Given the description of an element on the screen output the (x, y) to click on. 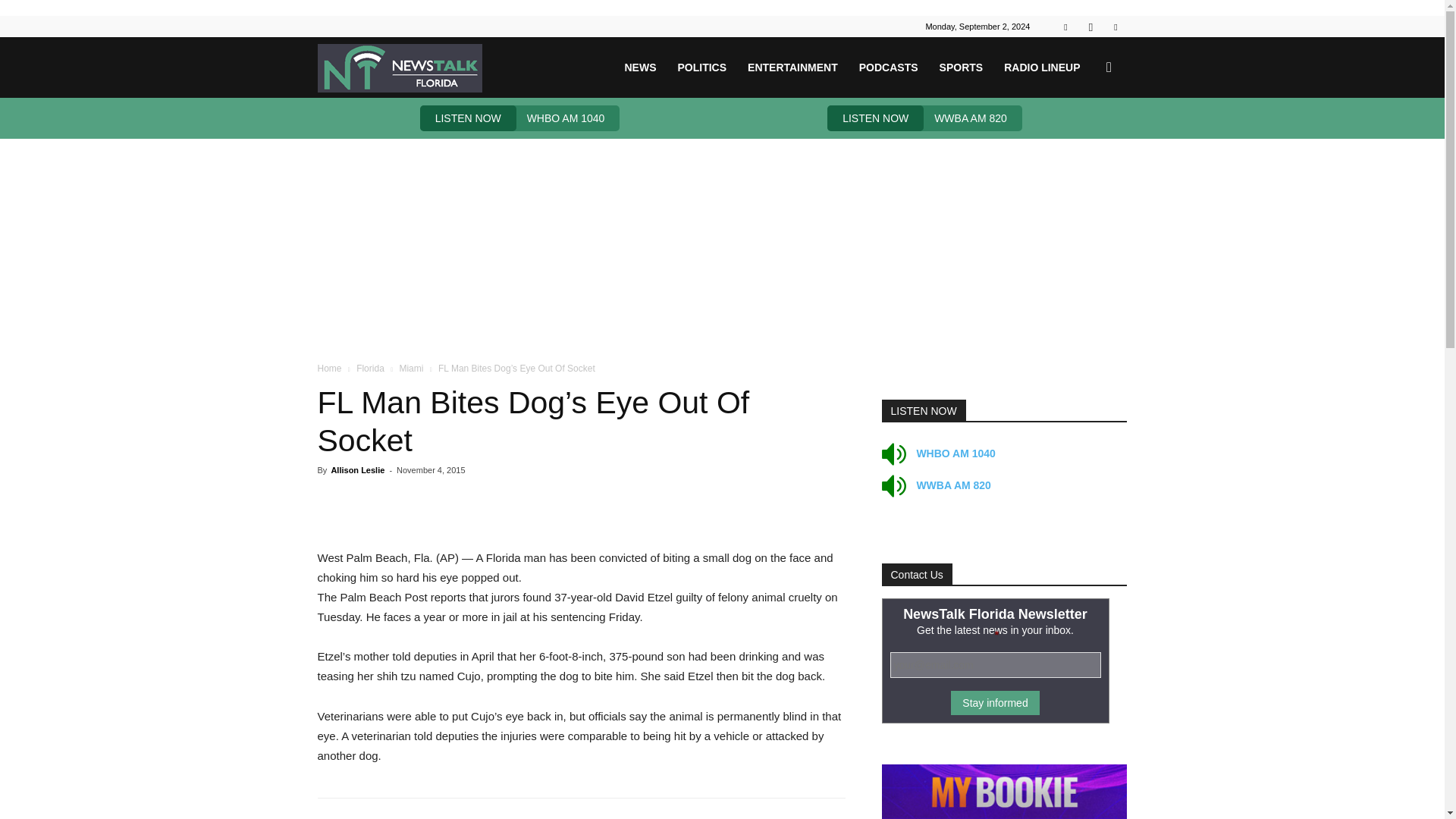
Search (1085, 139)
Facebook (1065, 25)
Stay informed (994, 702)
View all posts in Florida (370, 368)
Instagram (1090, 25)
Twitter (1114, 25)
View all posts in Miami (410, 368)
